Given the description of an element on the screen output the (x, y) to click on. 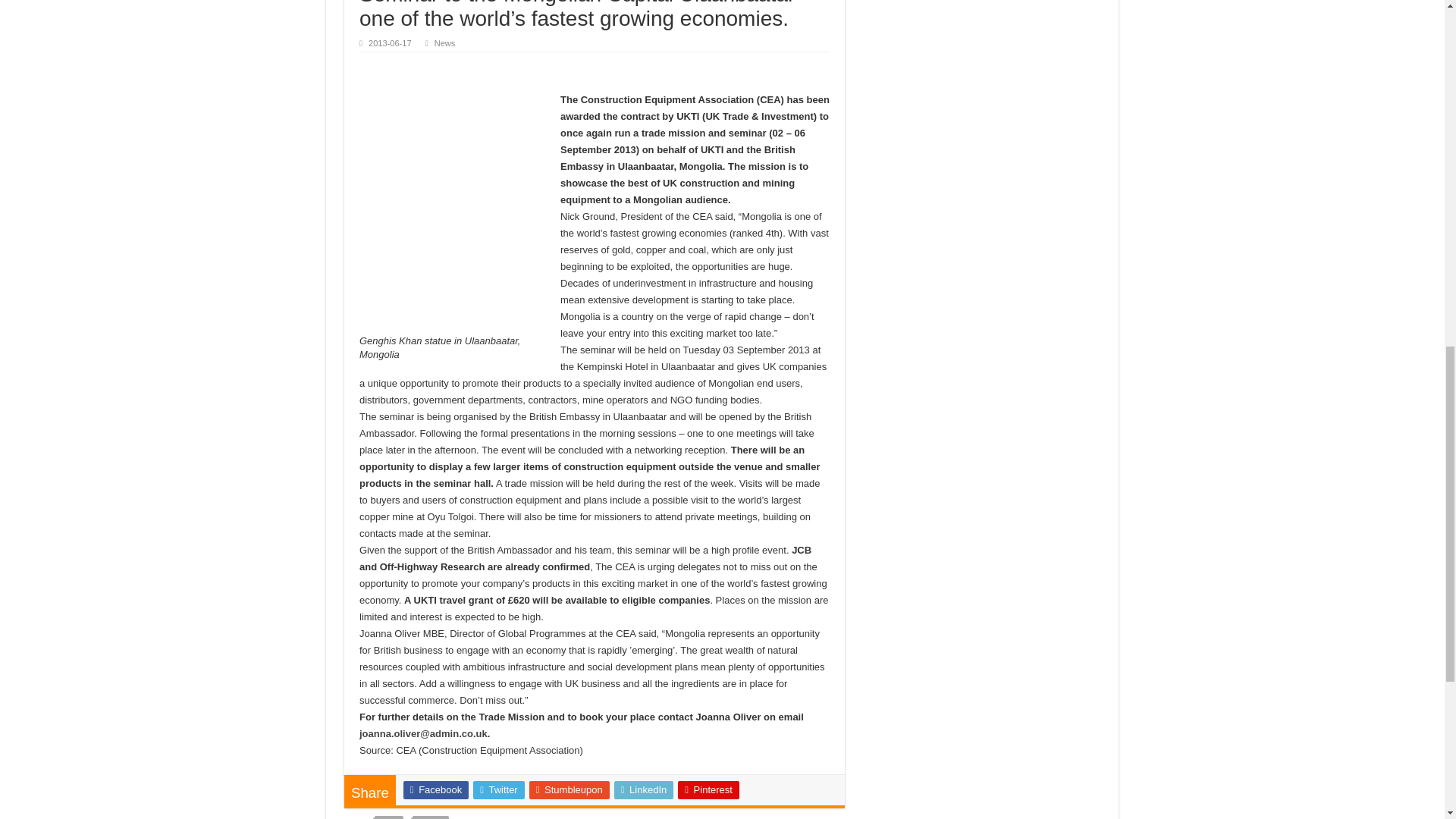
CEA (389, 817)
Pinterest (708, 790)
Stumbleupon (569, 790)
NEWS (430, 817)
News (444, 42)
LinkedIn (644, 790)
Twitter (498, 790)
Facebook (435, 790)
